Given the description of an element on the screen output the (x, y) to click on. 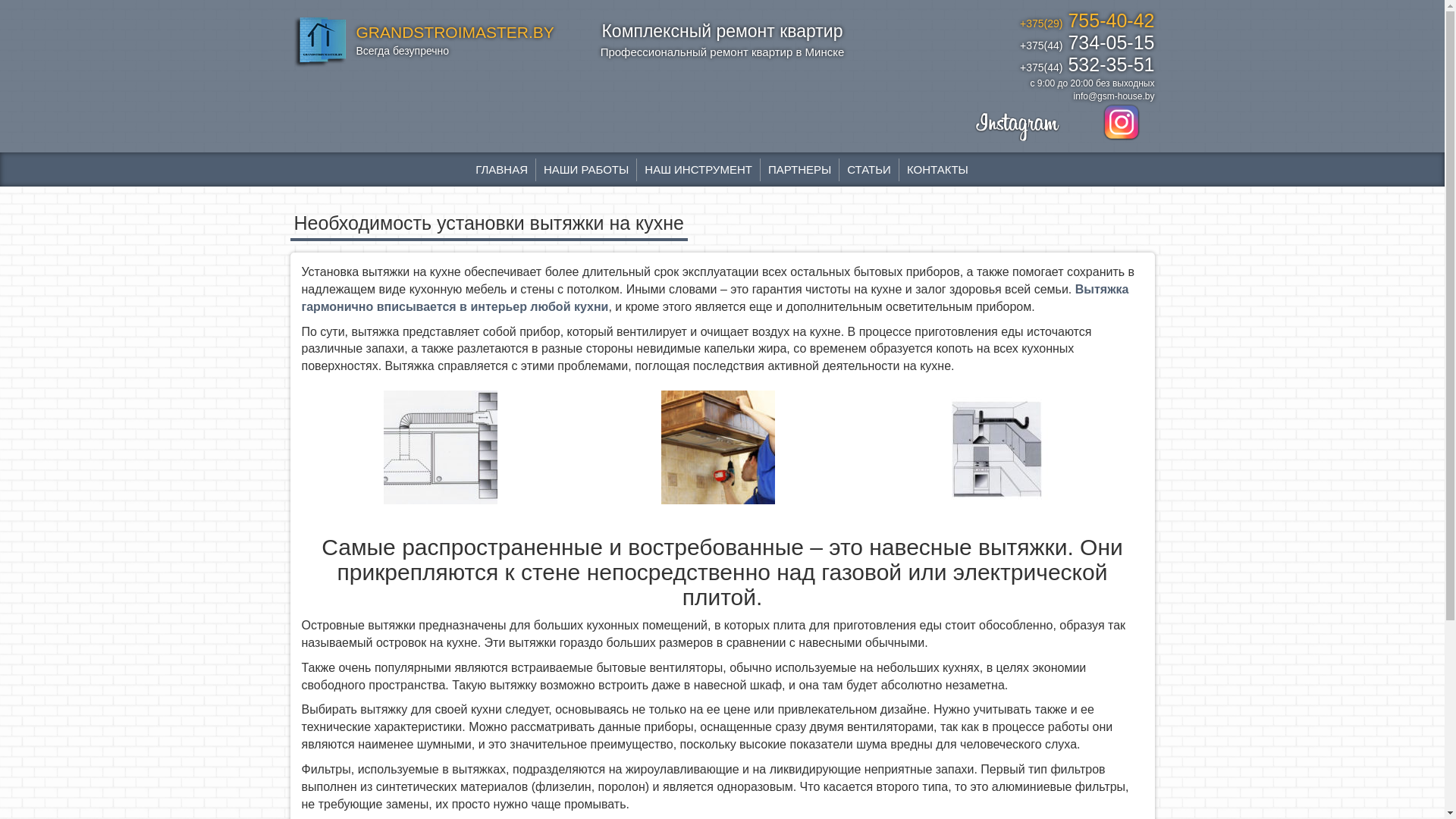
+375(44) 532-35-51 Element type: text (1017, 66)
+375(44) 734-05-15 Element type: text (1017, 44)
+375(29) 755-40-42 Element type: text (1017, 22)
